Given the description of an element on the screen output the (x, y) to click on. 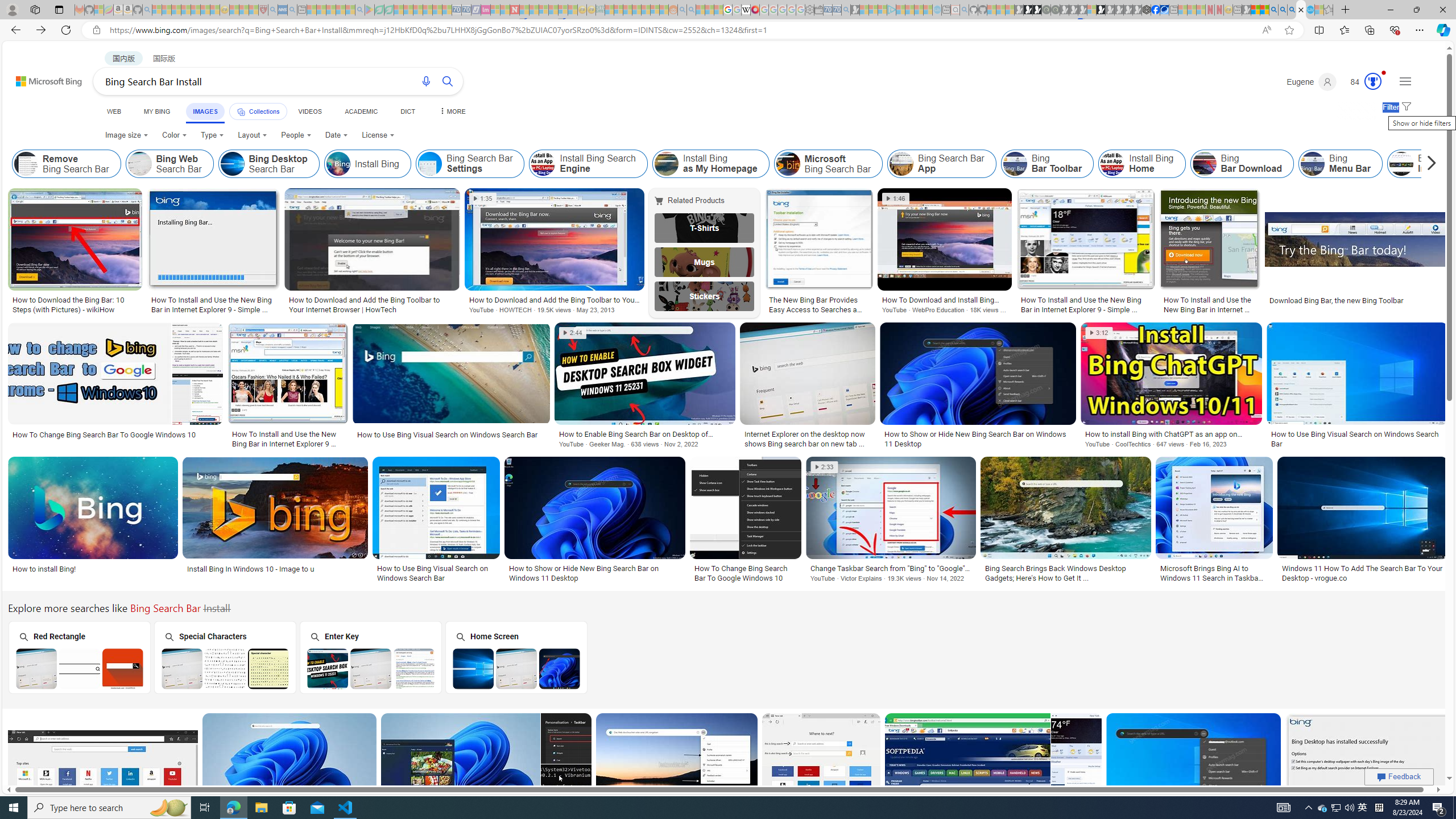
Future Focus Report 2024 - Sleeping (1054, 9)
DICT (407, 111)
Search using voice (426, 80)
Bing Search Bar App (901, 163)
Type (212, 135)
Download Bing Bar, the new Bing ToolbarSave (1356, 252)
How to install Bing with ChatGPT as an app on Windows 11 (1170, 433)
Red Rectangle (78, 656)
